Given the description of an element on the screen output the (x, y) to click on. 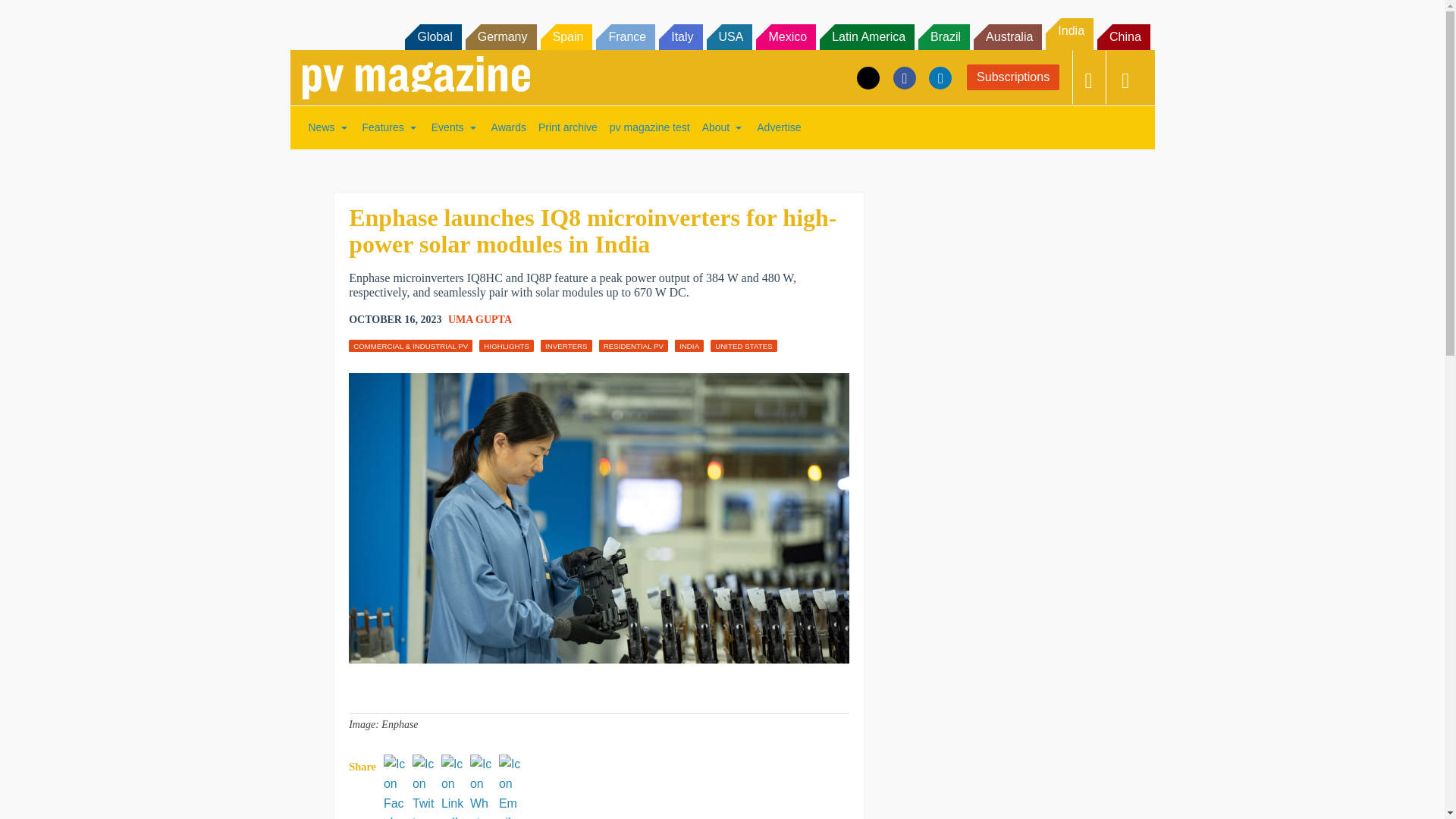
pv magazine - Photovoltaics Markets and Technology (415, 77)
Mexico (785, 36)
Germany (501, 36)
India (1069, 33)
Brazil (943, 36)
pv magazine - Photovoltaics Markets and Technology (415, 77)
Italy (680, 36)
USA (729, 36)
France (625, 36)
Australia (1008, 36)
Subscriptions (1012, 77)
China (1123, 36)
Monday, October 16, 2023, 10:52 pm (395, 320)
Search (32, 15)
Posts by Uma Gupta (480, 319)
